Given the description of an element on the screen output the (x, y) to click on. 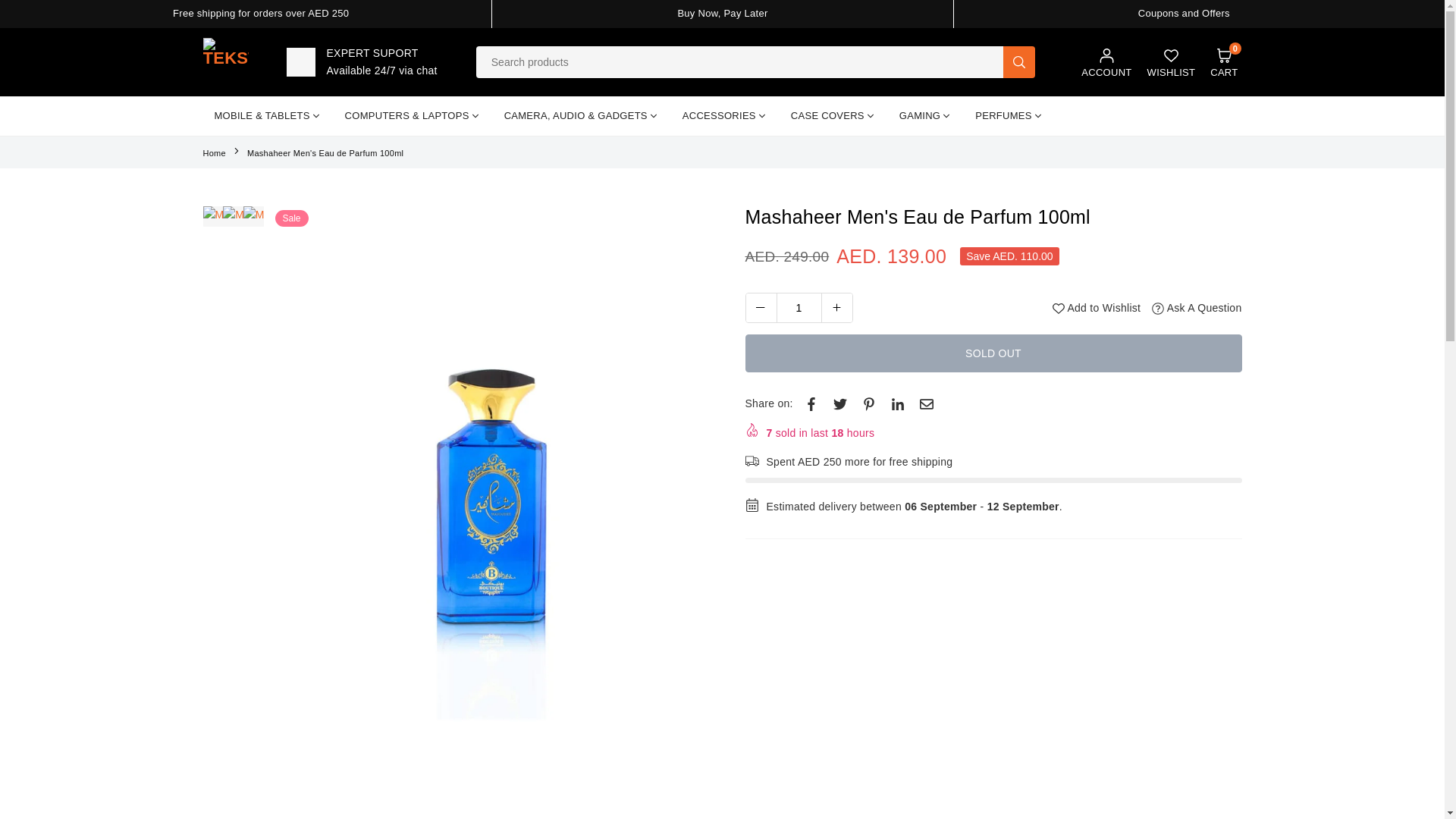
1 (799, 307)
Pin on Pinterest (868, 402)
ACCOUNT (1223, 62)
Buy Now, Pay Later (1106, 62)
Coupons and Offers (722, 12)
Quantity (1184, 12)
ACCOUNT (797, 307)
Share on Linkedin (1106, 62)
Share by Email (897, 402)
